Given the description of an element on the screen output the (x, y) to click on. 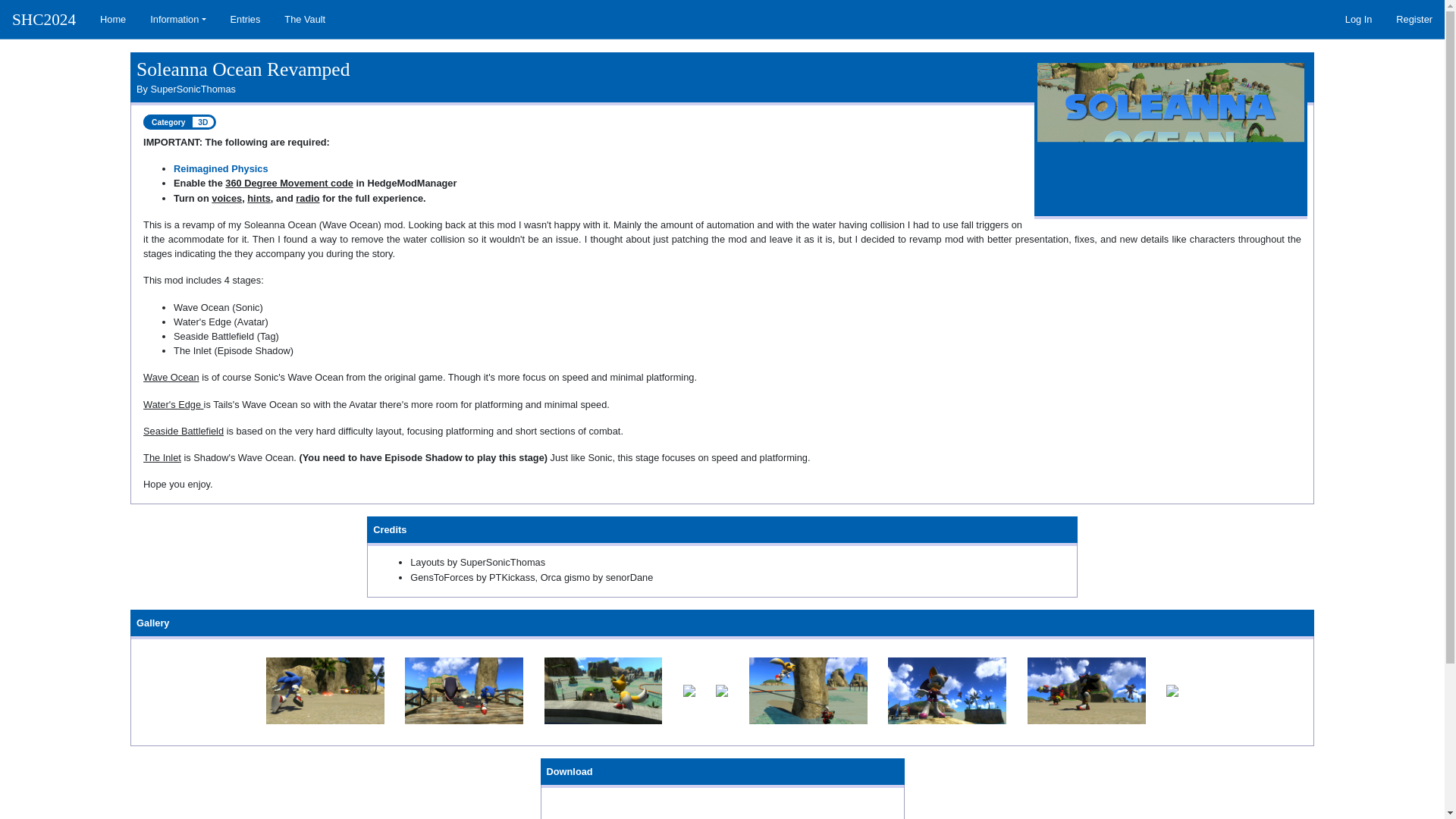
Reimagined Physics (220, 168)
The Vault (304, 19)
Information (177, 19)
Entries (245, 19)
Log In (1358, 19)
SHC2024 (43, 19)
Home (112, 19)
